Given the description of an element on the screen output the (x, y) to click on. 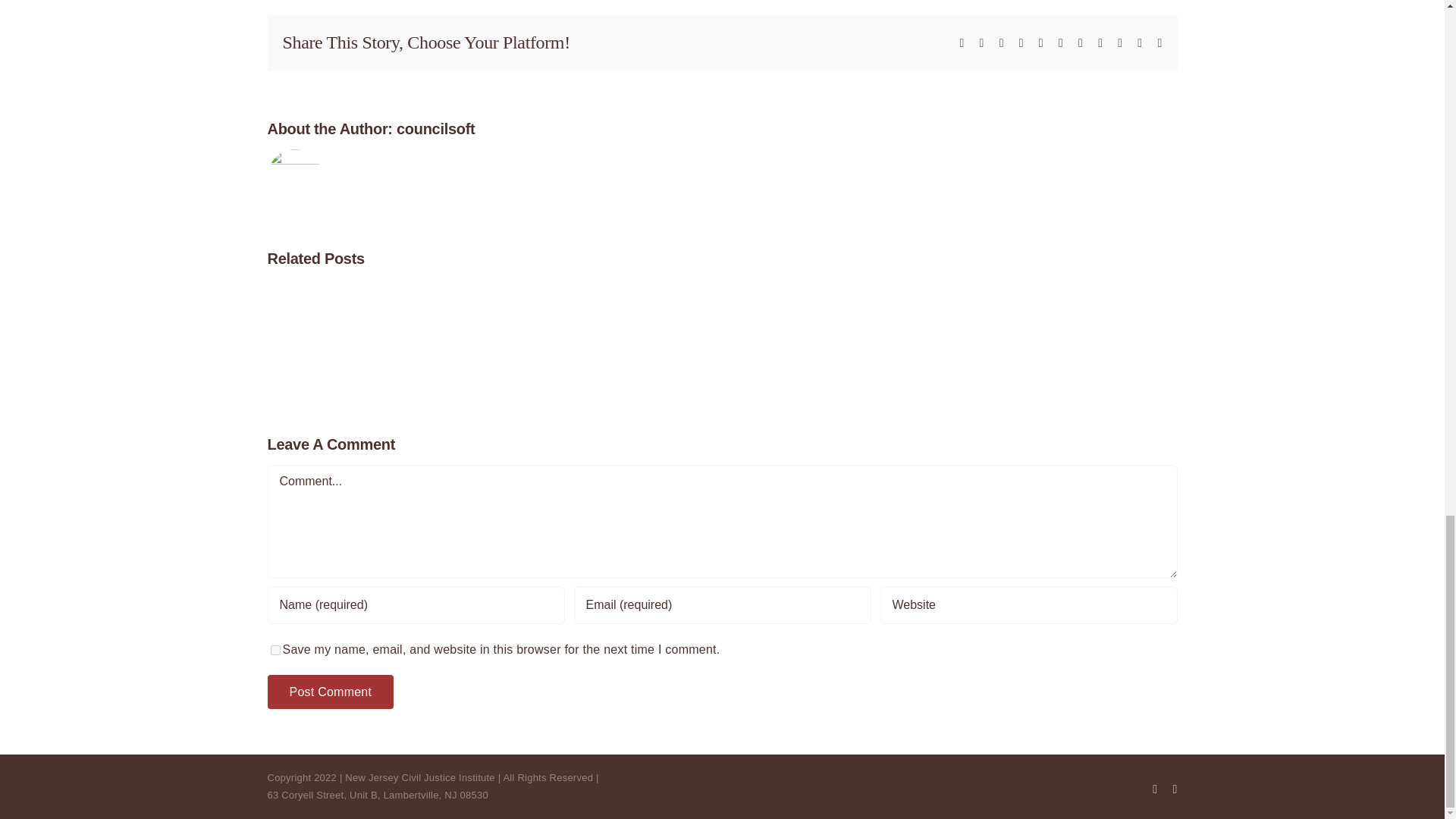
X (981, 42)
Tumblr (1080, 42)
WhatsApp (1041, 42)
Reddit (1001, 42)
Pinterest (1099, 42)
Post Comment (329, 691)
Facebook (961, 42)
LinkedIn (1021, 42)
Xing (1139, 42)
Vk (1120, 42)
Telegram (1060, 42)
yes (274, 650)
